Given the description of an element on the screen output the (x, y) to click on. 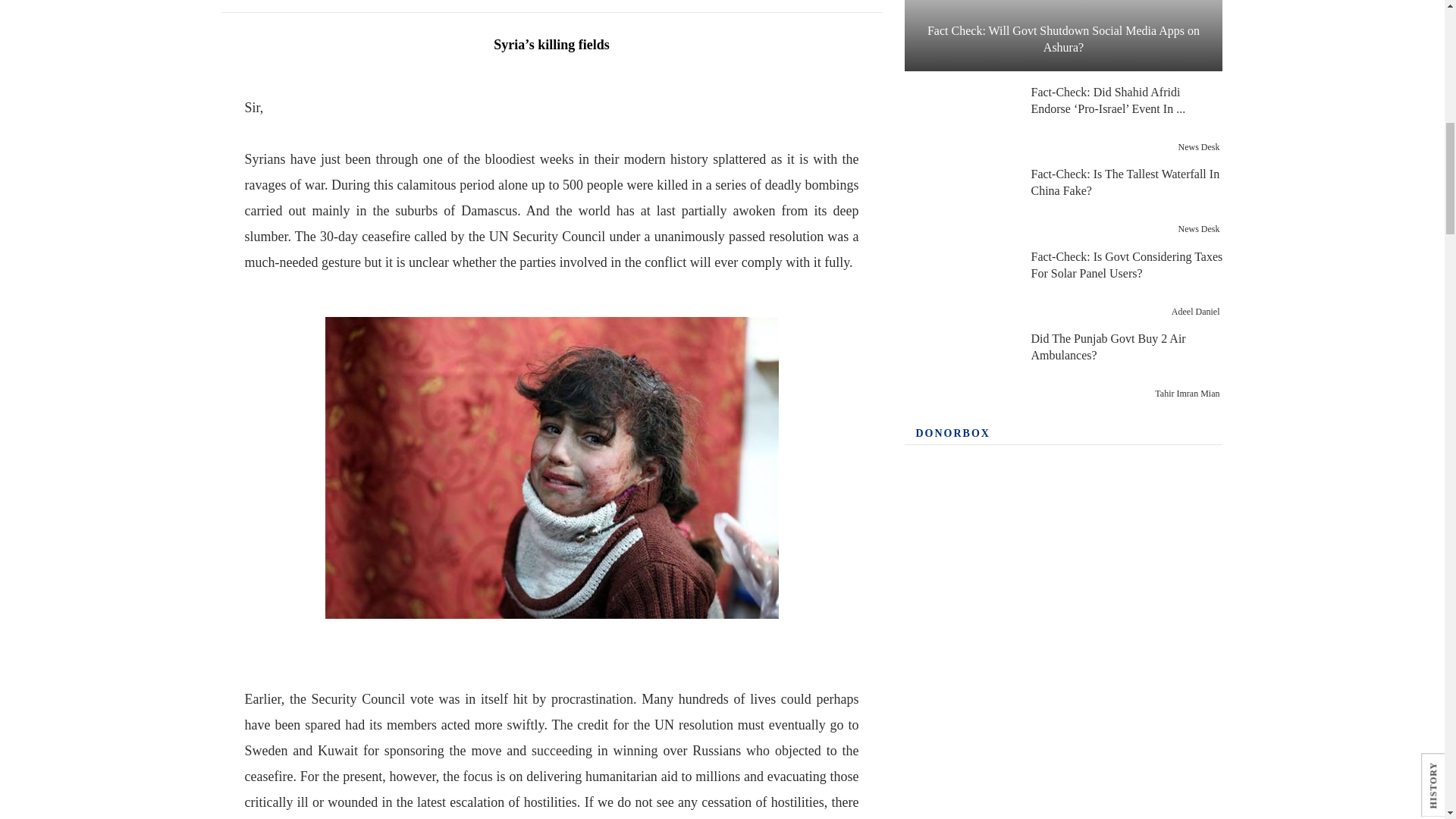
Did The Punjab Govt Buy 2 Air Ambulances? (959, 365)
Fact-Check: Is Govt Considering Taxes For Solar Panel Users? (959, 283)
Fact-Check: Is The Tallest Waterfall In China Fake? (959, 201)
Fact Check: Will Govt Shutdown Social Media Apps on Ashura? (1063, 35)
donor-box (1063, 639)
